Given the description of an element on the screen output the (x, y) to click on. 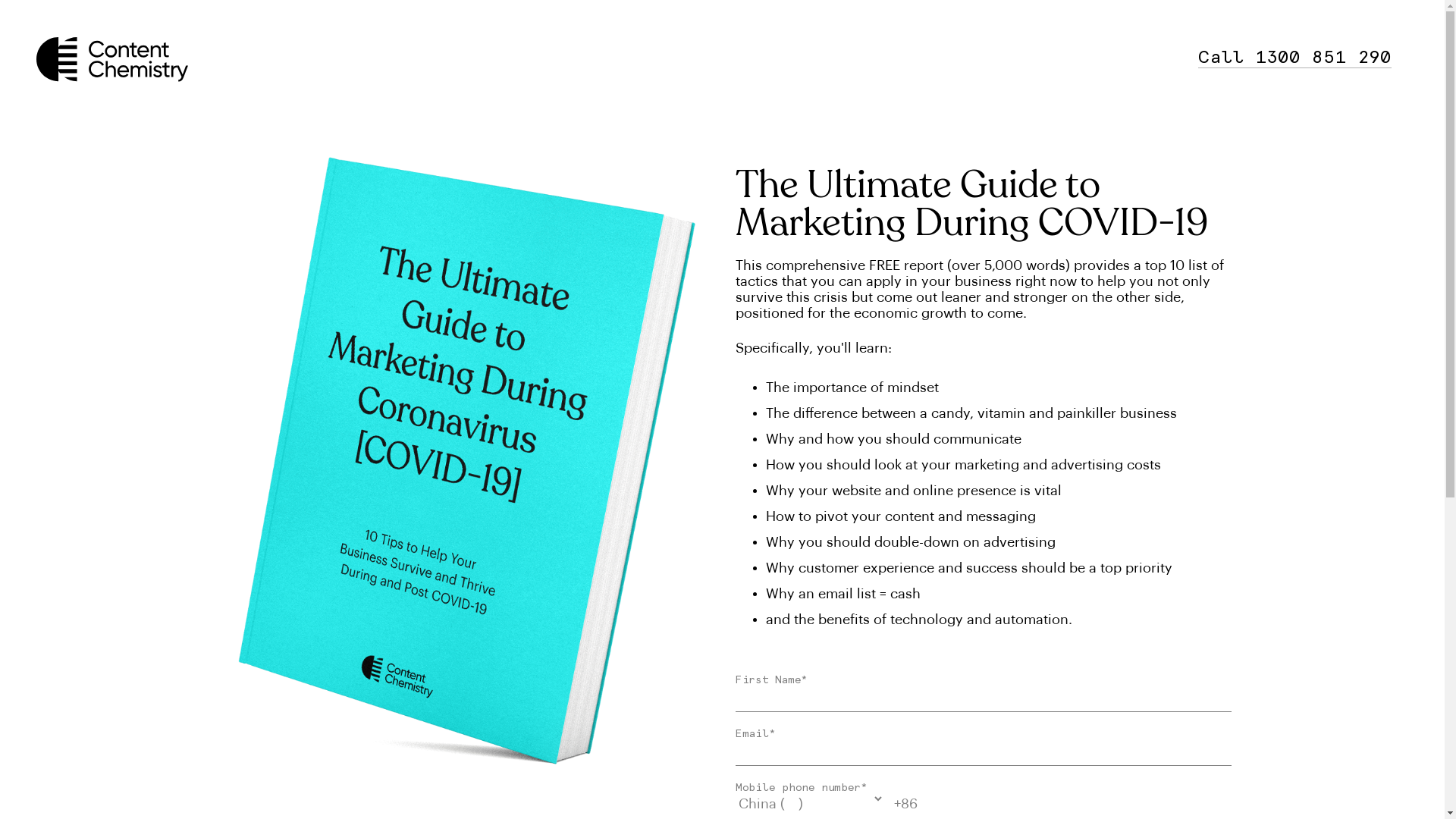
Call 1300 851 290 Element type: text (1294, 56)
